Given the description of an element on the screen output the (x, y) to click on. 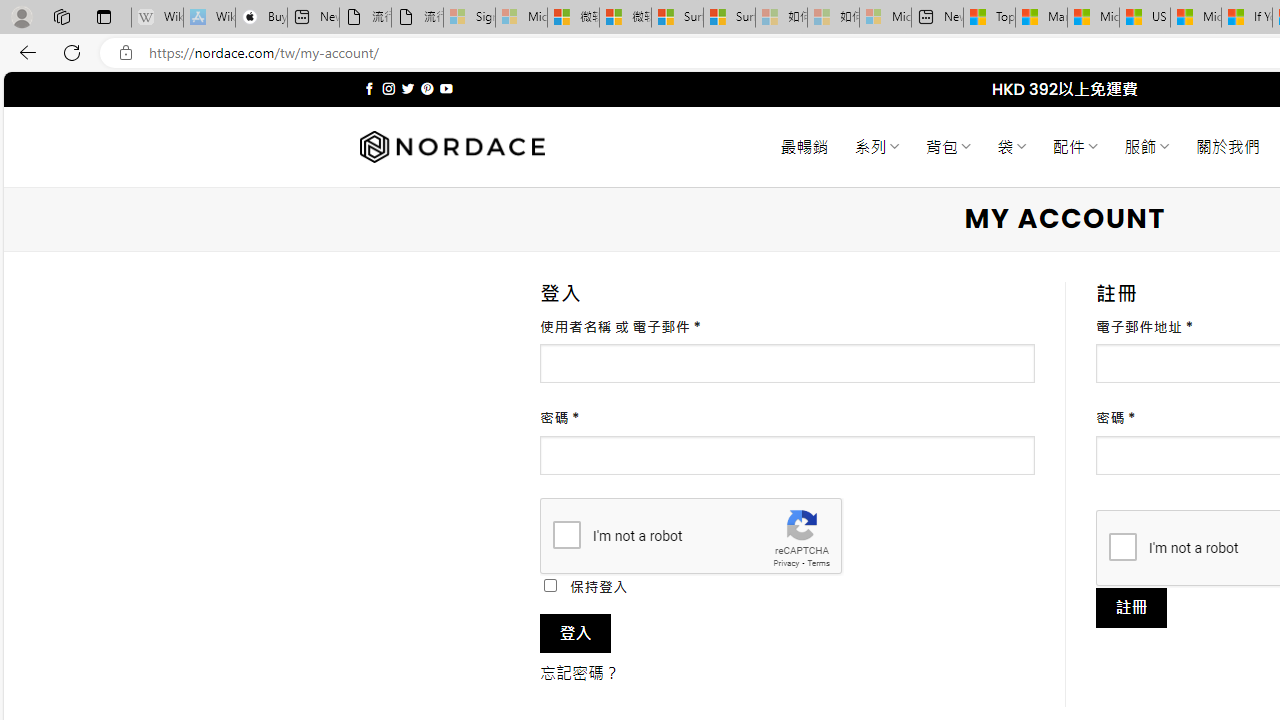
Top Stories - MSN (989, 17)
Follow on Facebook (369, 88)
Marine life - MSN (1041, 17)
I'm not a robot (1122, 546)
Follow on Pinterest (427, 88)
